Given the description of an element on the screen output the (x, y) to click on. 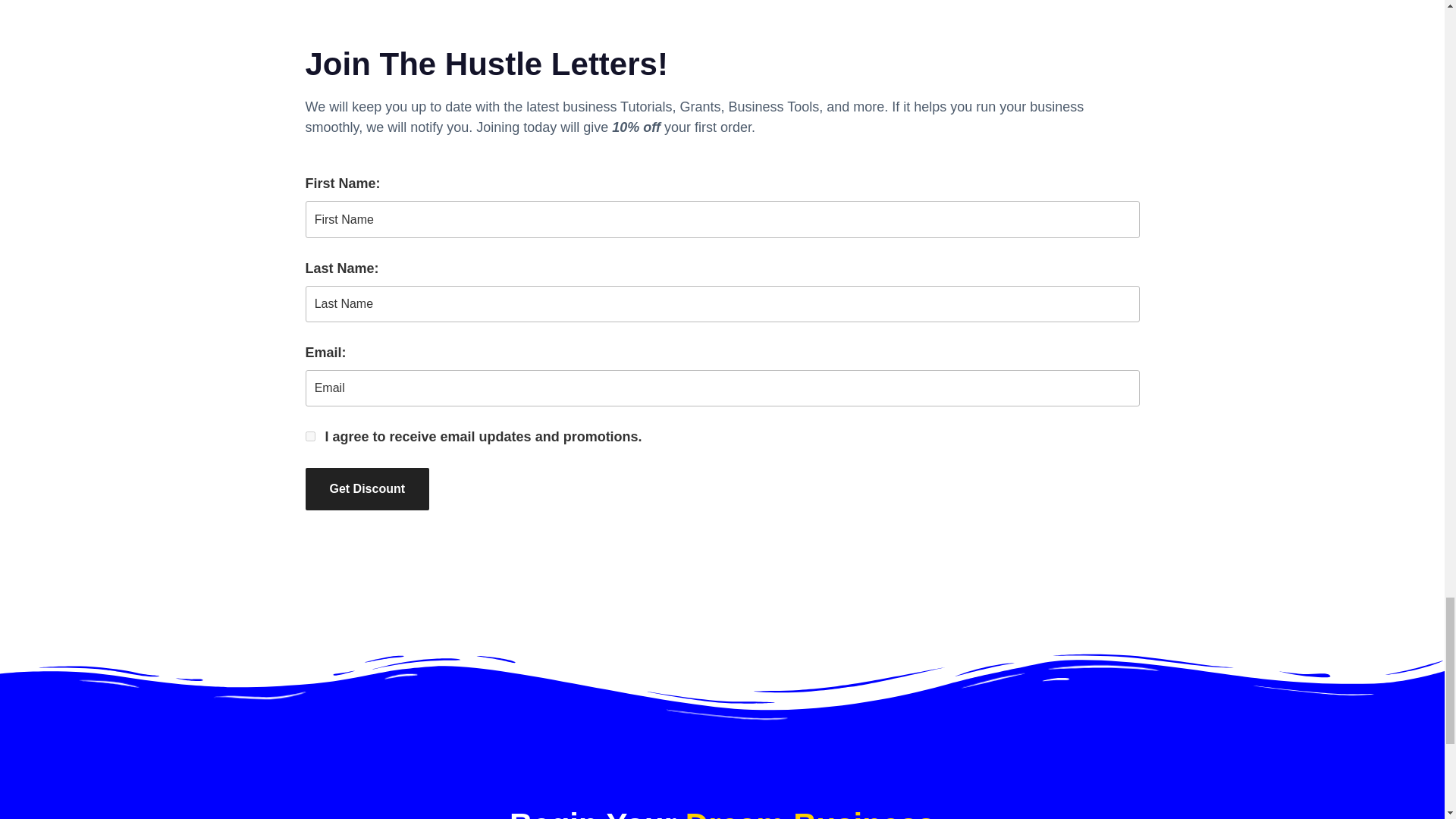
1 (309, 436)
Get Discount (366, 488)
